Given the description of an element on the screen output the (x, y) to click on. 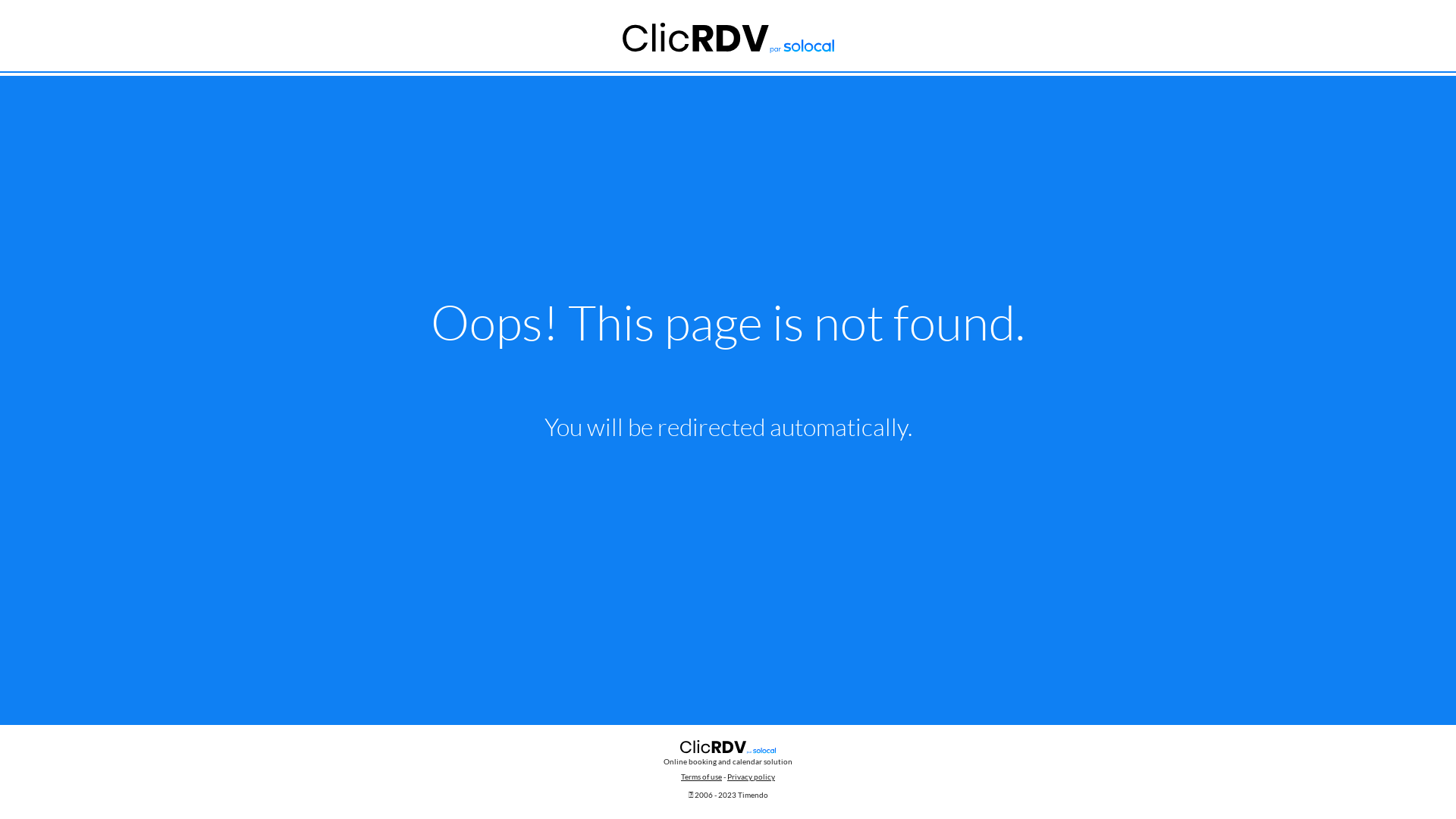
Terms of use Element type: text (700, 776)
Privacy policy Element type: text (751, 776)
